Given the description of an element on the screen output the (x, y) to click on. 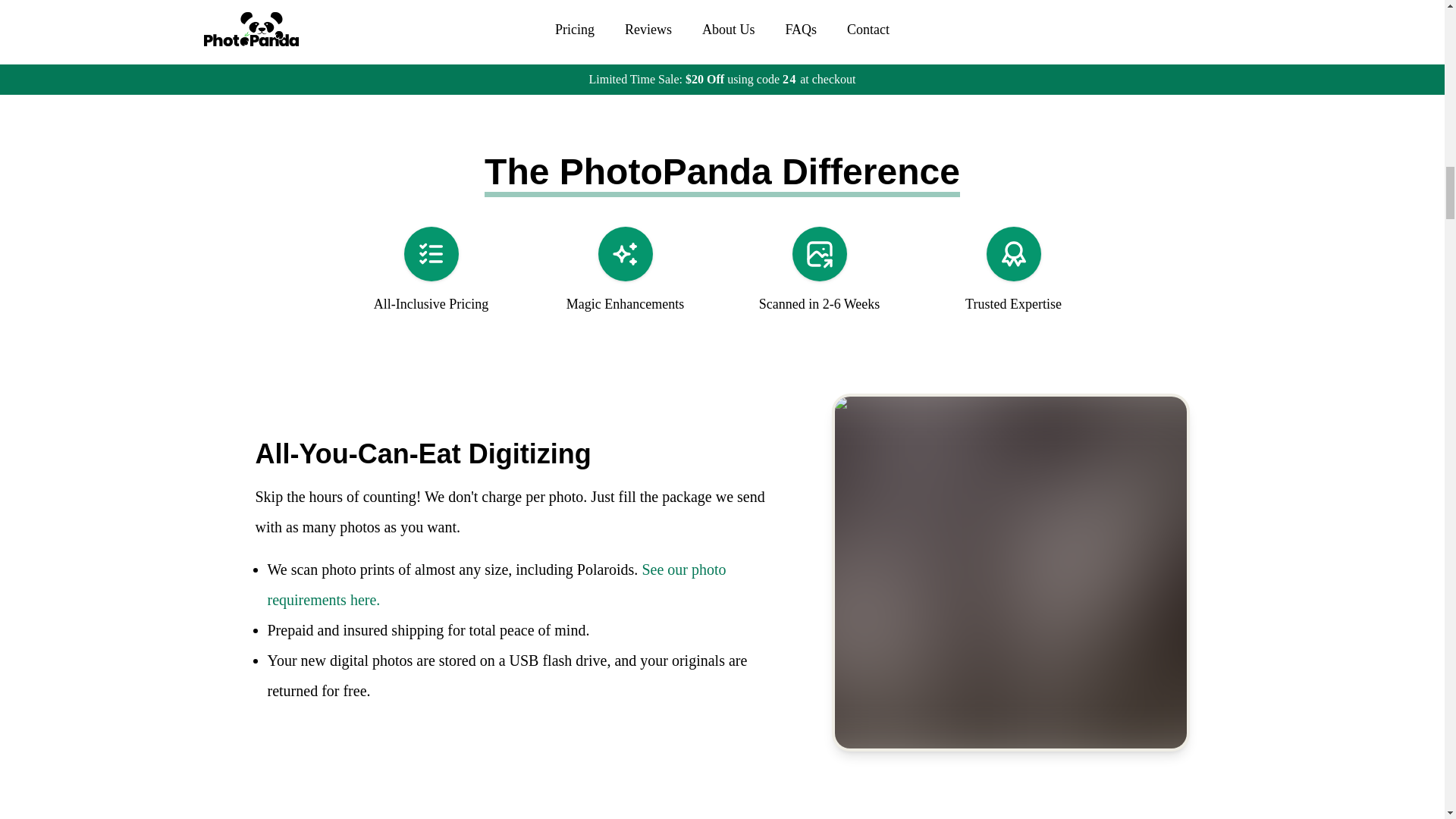
See our photo requirements here. (495, 584)
